Given the description of an element on the screen output the (x, y) to click on. 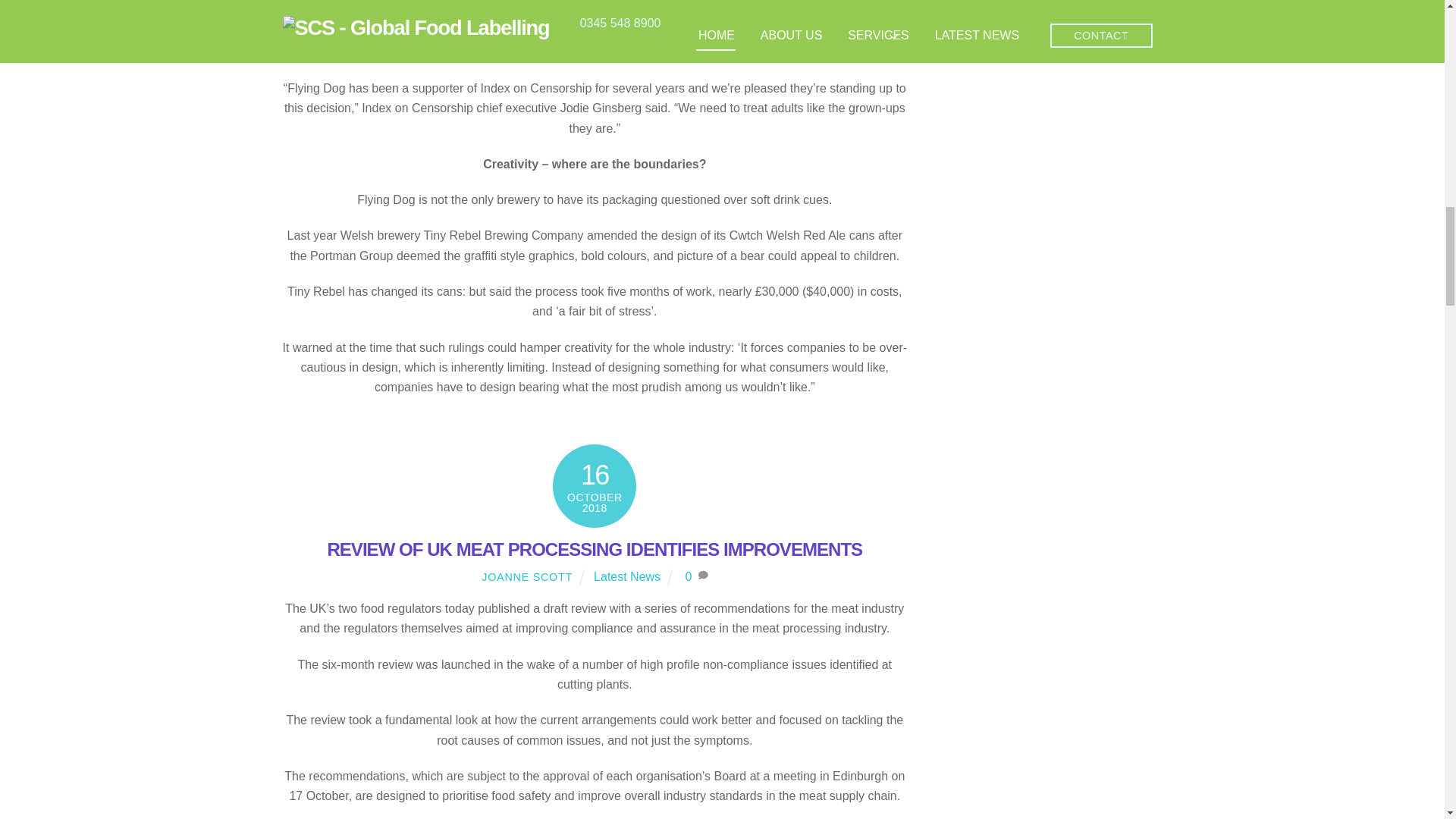
JOANNE SCOTT (526, 576)
REVIEW OF UK MEAT PROCESSING IDENTIFIES IMPROVEMENTS (593, 548)
Latest News (627, 576)
